Given the description of an element on the screen output the (x, y) to click on. 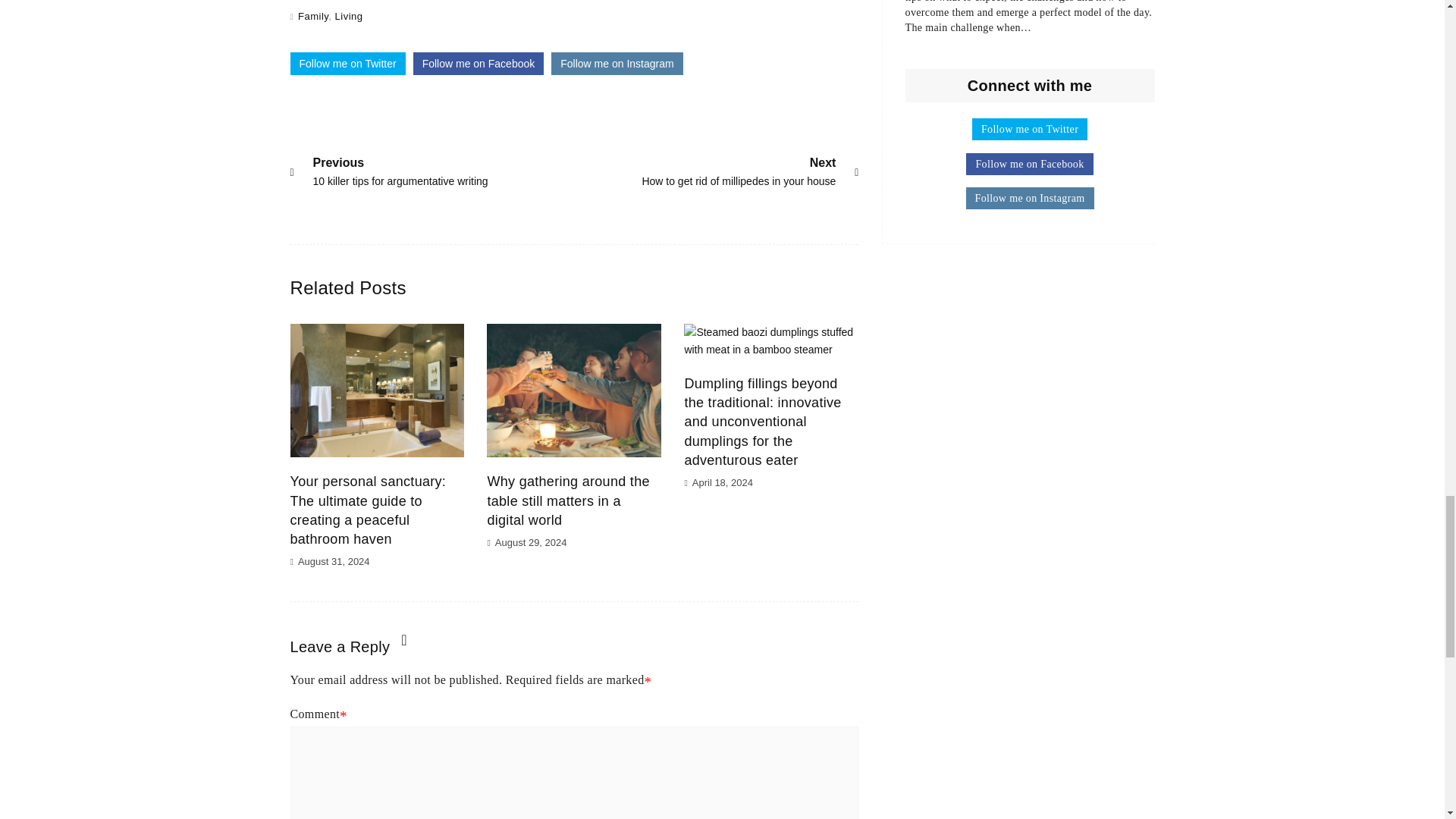
Follow me on Twitter (738, 169)
Follow me on Facebook (346, 63)
Family (478, 63)
Follow me on Instagram (313, 16)
Living (616, 63)
